Given the description of an element on the screen output the (x, y) to click on. 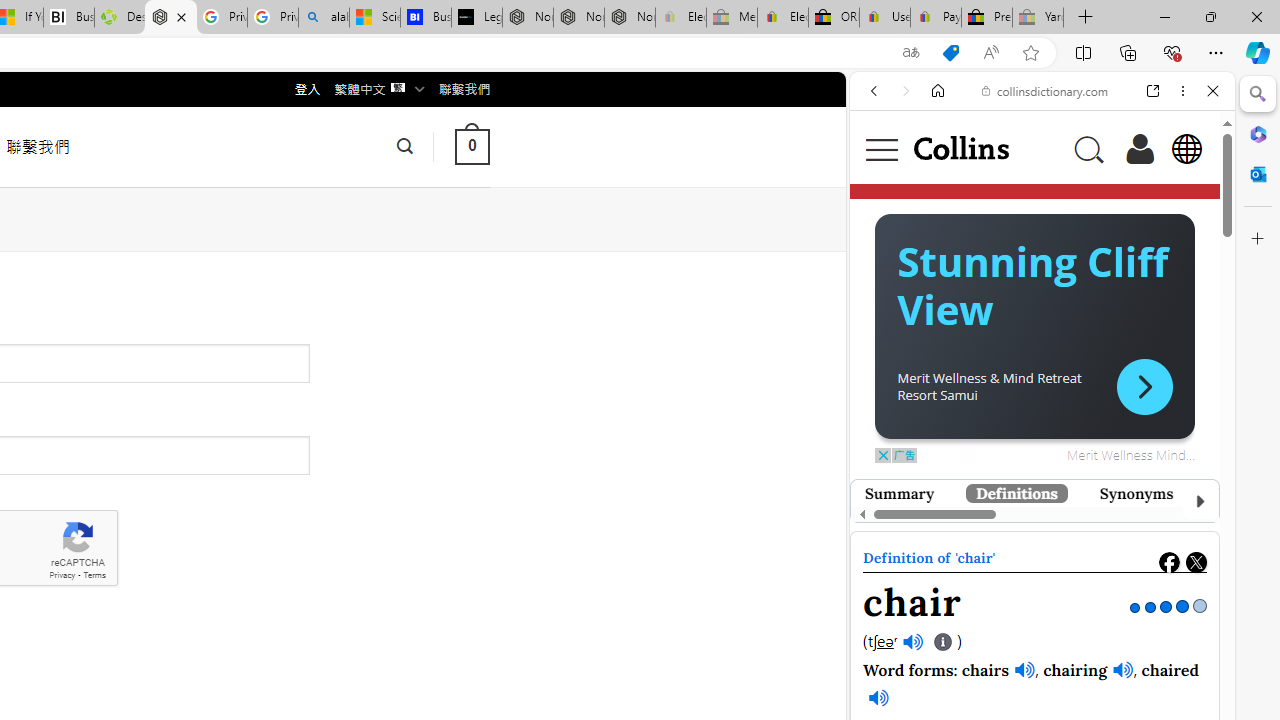
Definitions (1016, 493)
Link for logging (893, 359)
collinsdictionary.com (1045, 90)
seat (965, 501)
Show translate options (910, 53)
alabama high school quarterback dies - Search (324, 17)
Class: ns-14utm-e-3 image p9FadeIn (1027, 539)
